Given the description of an element on the screen output the (x, y) to click on. 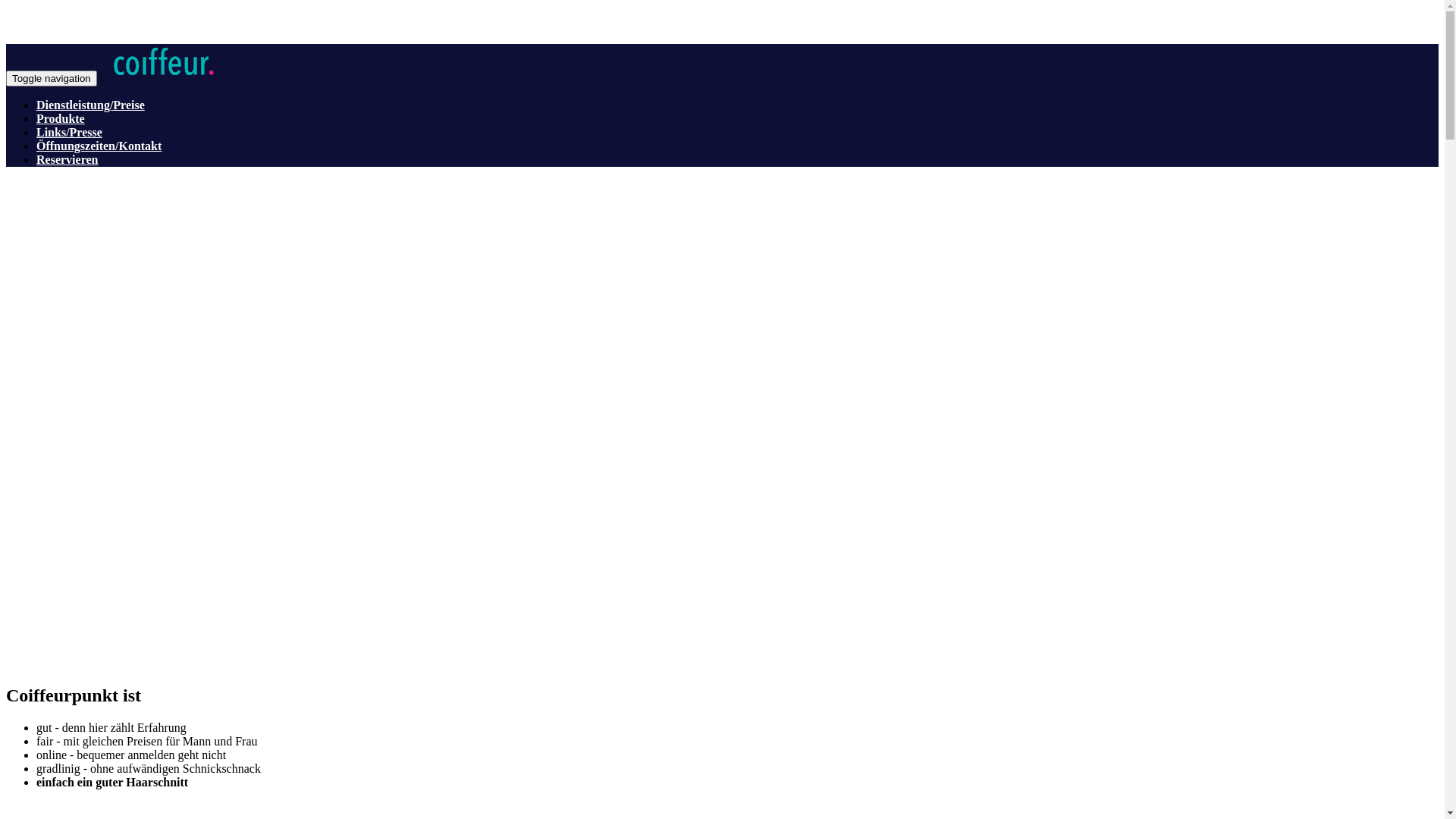
Reservieren Element type: text (66, 159)
Toggle navigation Element type: text (51, 78)
Dienstleistung/Preise Element type: text (90, 104)
Produkte Element type: text (60, 118)
Links/Presse Element type: text (69, 131)
